Given the description of an element on the screen output the (x, y) to click on. 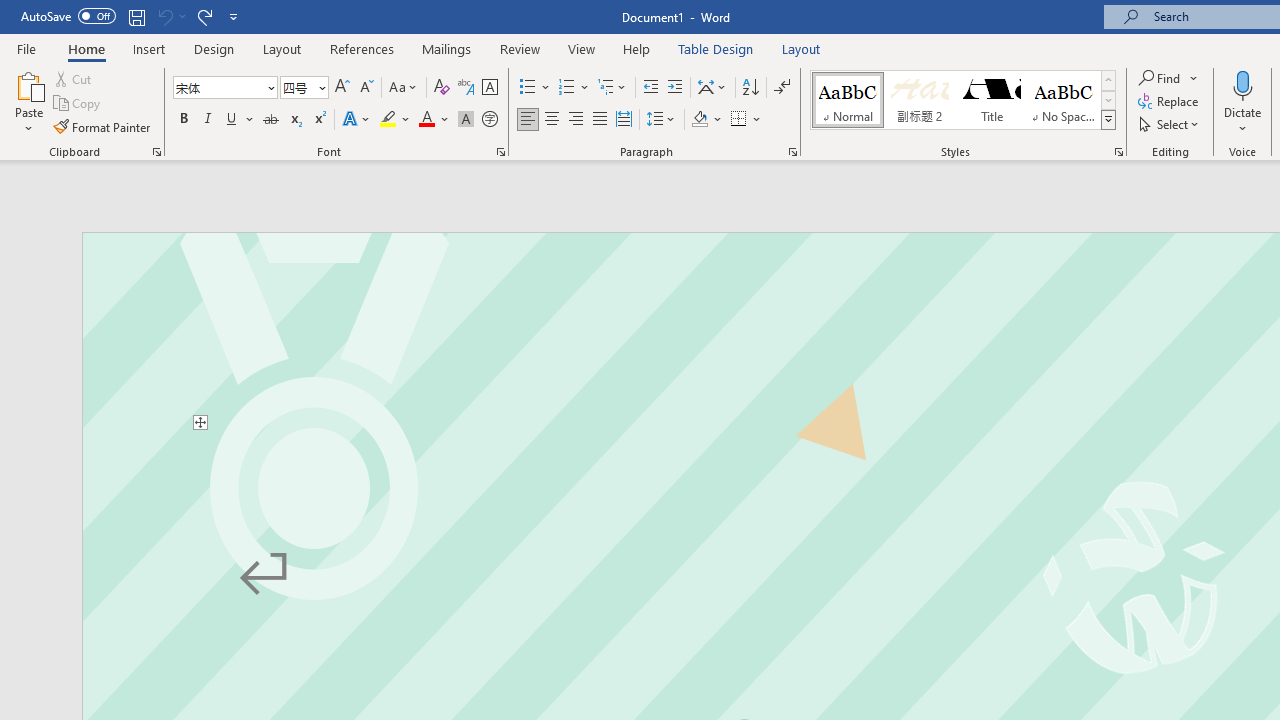
Save (136, 15)
Numbering (573, 87)
Review (520, 48)
Table Design (715, 48)
Dictate (1243, 84)
Underline (239, 119)
Font... (500, 151)
